Given the description of an element on the screen output the (x, y) to click on. 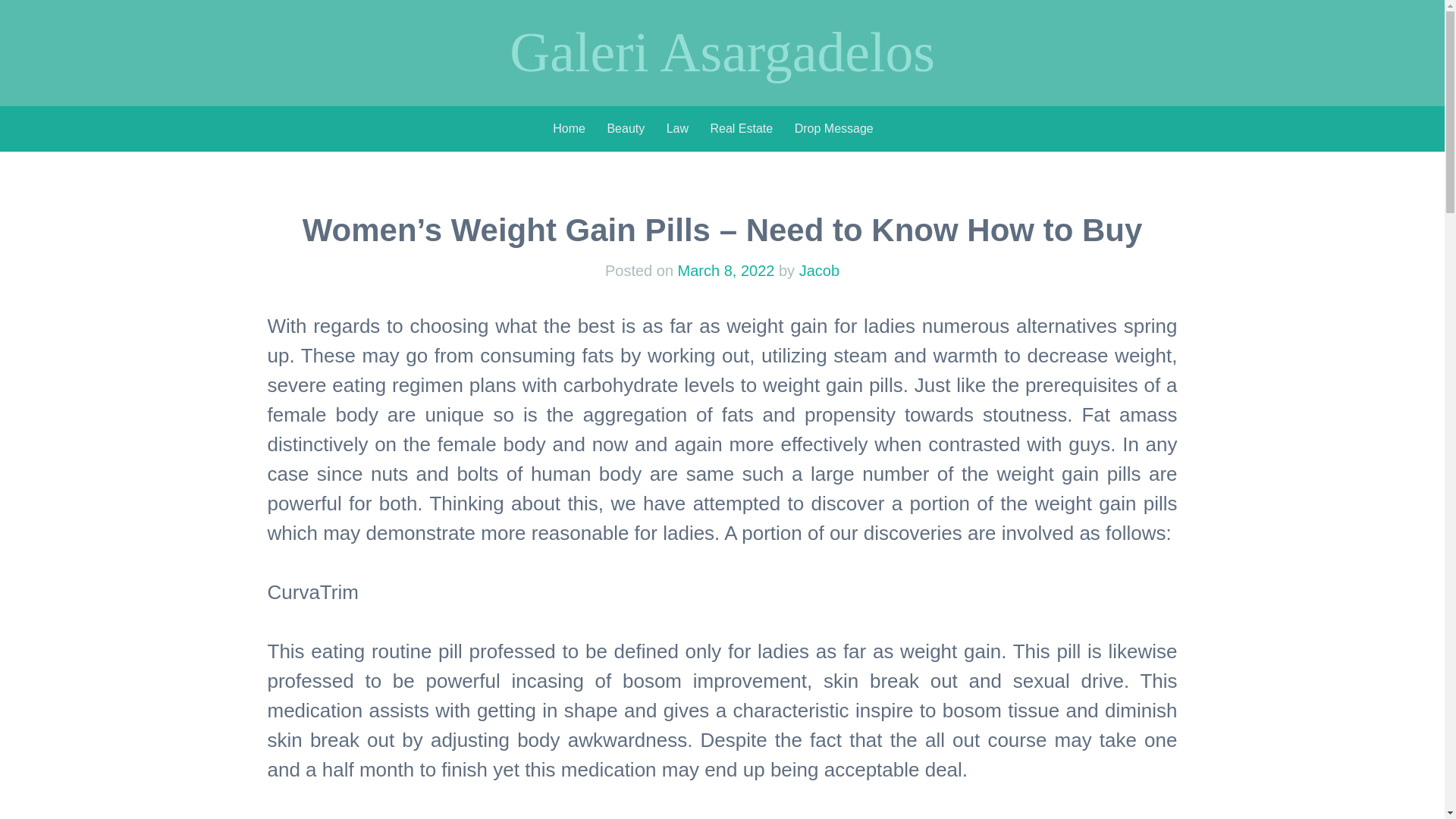
Galeri Asargadelos (721, 52)
Search (24, 13)
March 8, 2022 (726, 270)
Drop Message (833, 128)
Real Estate (741, 128)
Jacob (819, 270)
Beauty (626, 128)
Home (569, 128)
